Given the description of an element on the screen output the (x, y) to click on. 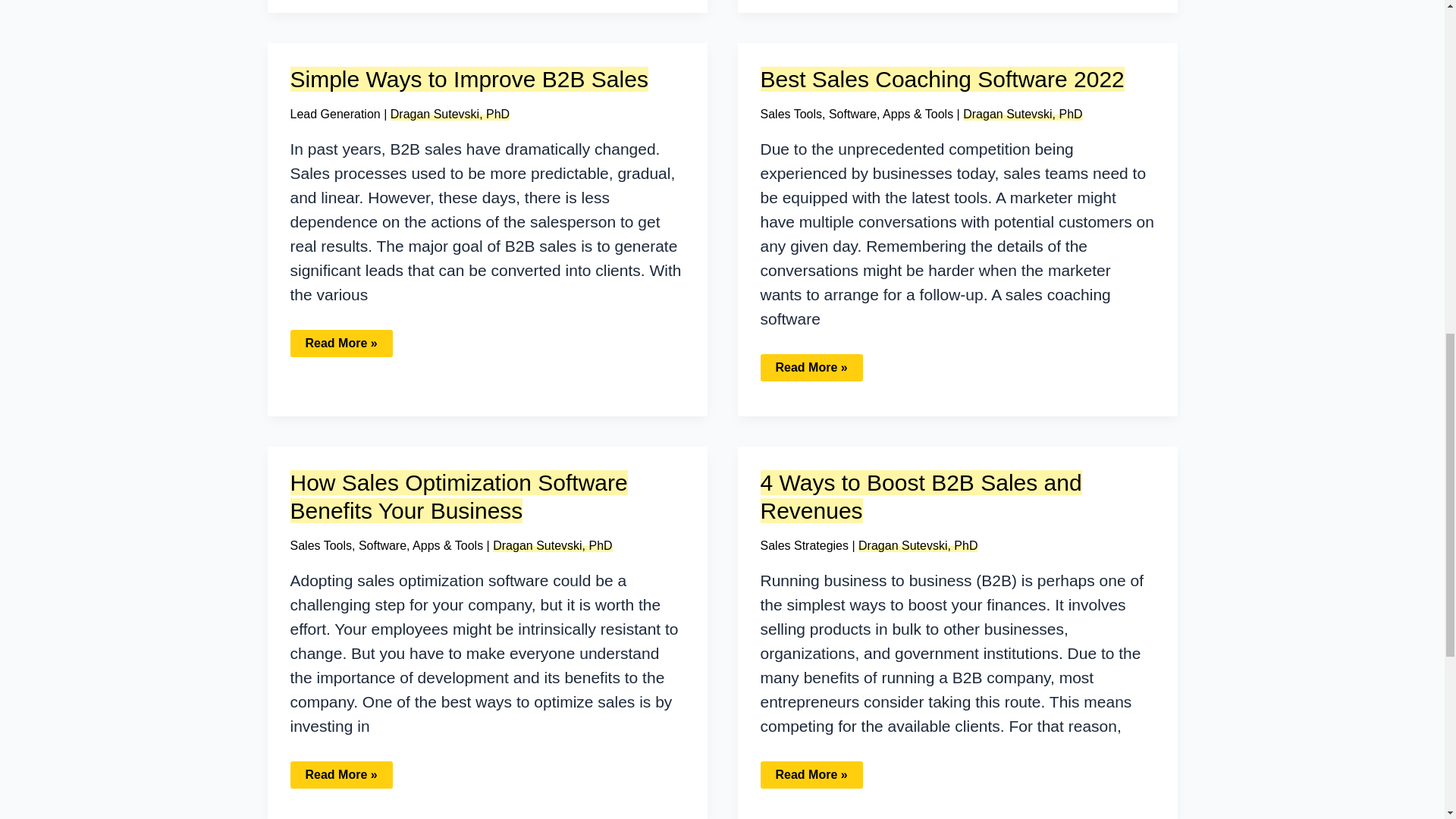
Lead Generation (334, 113)
Simple Ways to Improve B2B Sales (468, 78)
How Sales Optimization Software Benefits Your Business (458, 496)
View all posts by Dragan Sutevski, PhD (449, 113)
View all posts by Dragan Sutevski, PhD (552, 545)
Dragan Sutevski, PhD (449, 113)
Dragan Sutevski, PhD (1021, 113)
Best Sales Coaching Software 2022 (942, 78)
View all posts by Dragan Sutevski, PhD (1021, 113)
View all posts by Dragan Sutevski, PhD (917, 545)
Sales Tools (791, 113)
